Given the description of an element on the screen output the (x, y) to click on. 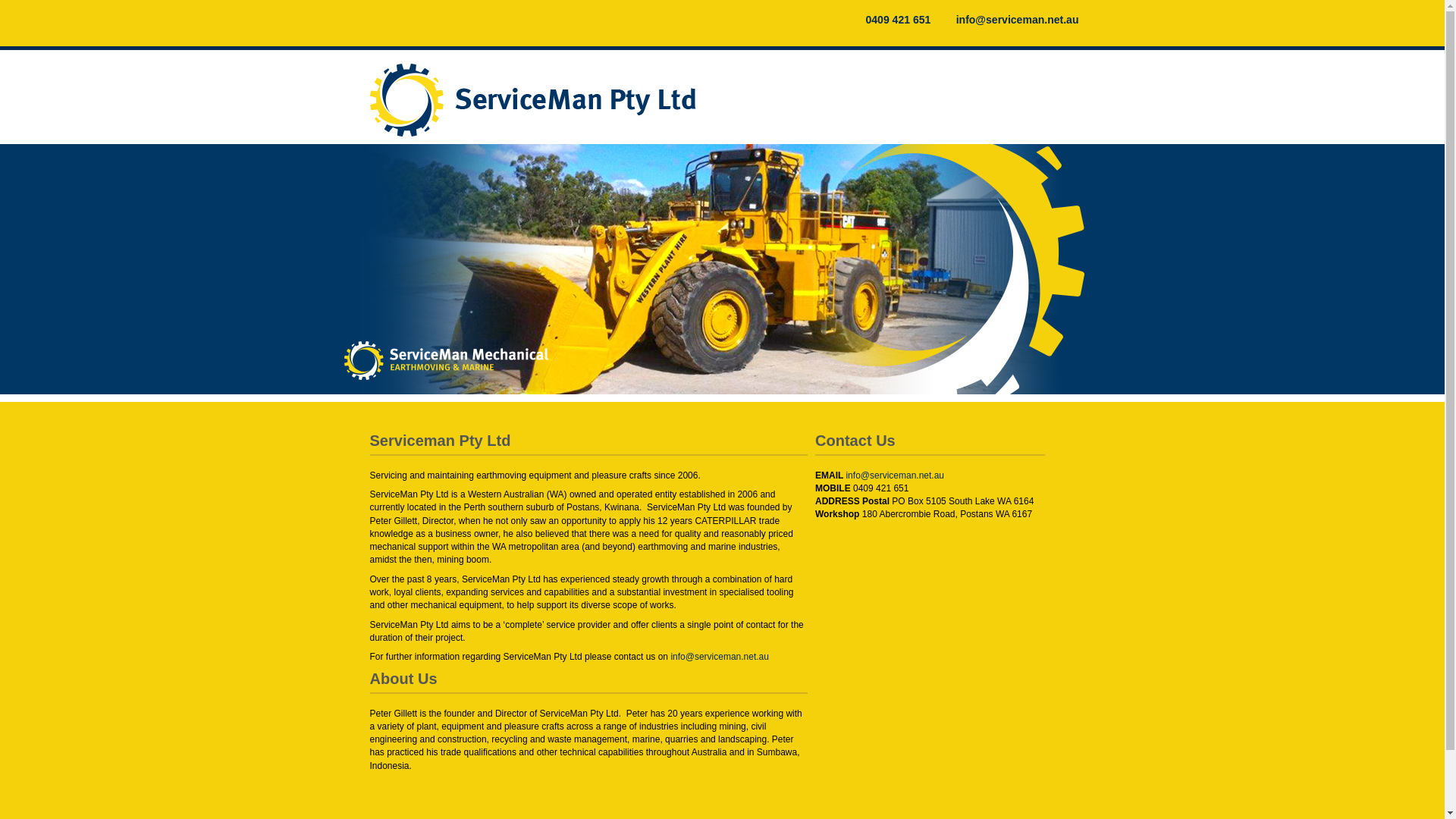
Serviceman Element type: hover (544, 99)
info@serviceman.net.au Element type: text (894, 475)
info@serviceman.net.au Element type: text (1010, 19)
info@serviceman.net.au Element type: text (719, 656)
